Given the description of an element on the screen output the (x, y) to click on. 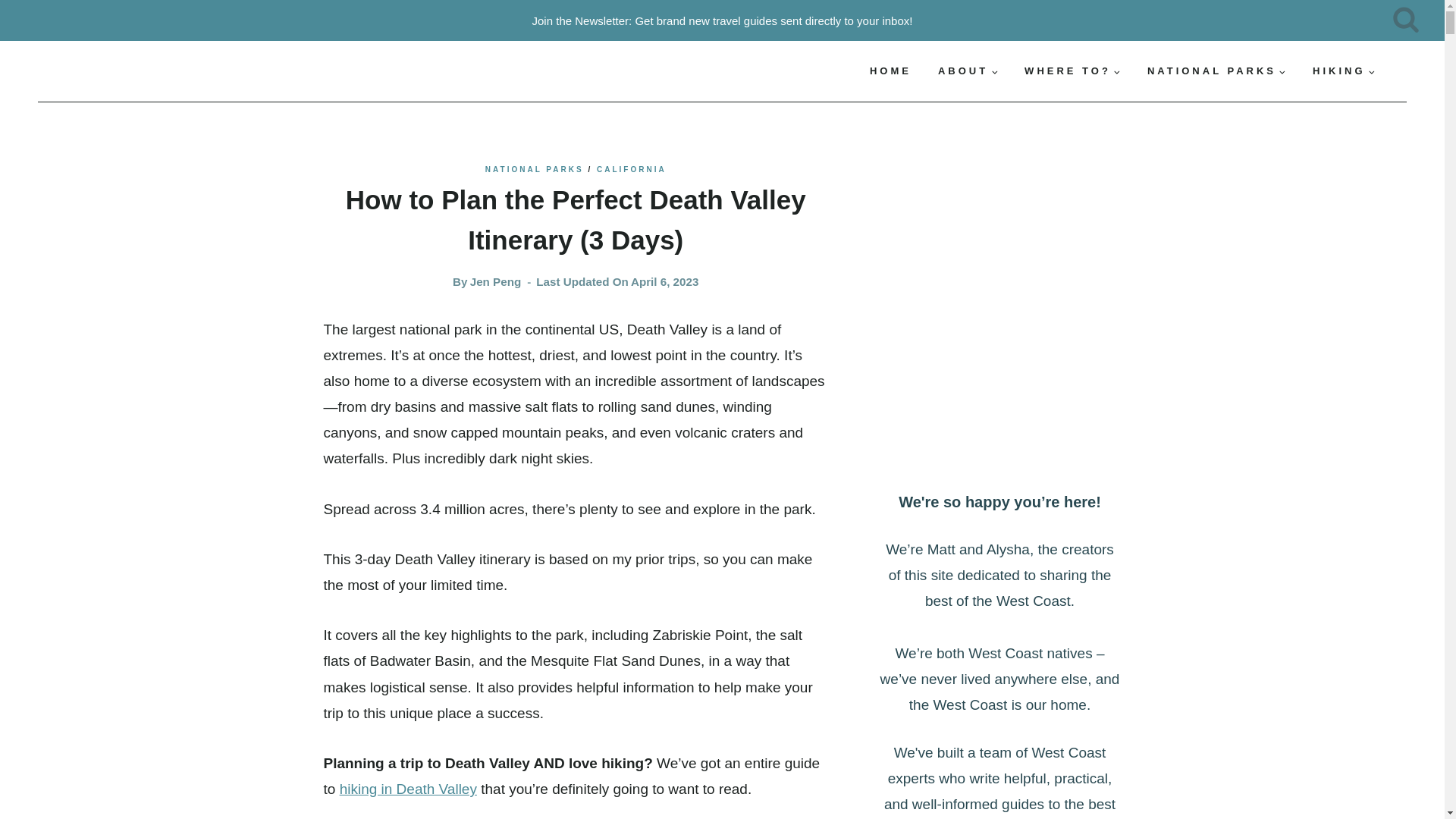
HOME (890, 70)
WHERE TO? (1072, 70)
ABOUT (967, 70)
